Given the description of an element on the screen output the (x, y) to click on. 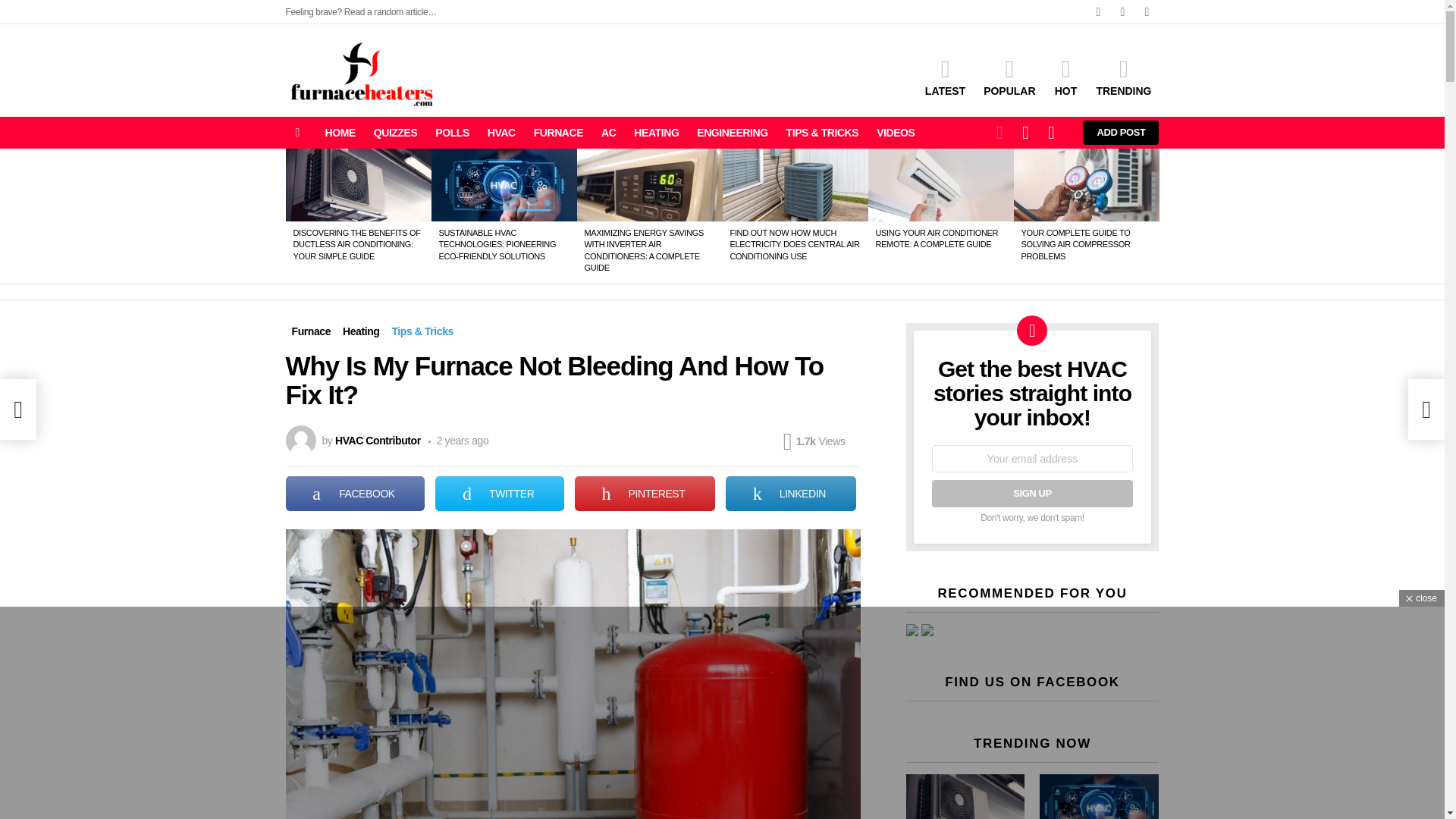
HVAC (501, 132)
AC (608, 132)
facebook (1097, 11)
instagram (1146, 11)
Sign up (1031, 492)
Your Complete Guide To Solving Air Compressor Problems (1085, 184)
HOME (339, 132)
LATEST (944, 76)
ENGINEERING (731, 132)
Menu (296, 132)
